Given the description of an element on the screen output the (x, y) to click on. 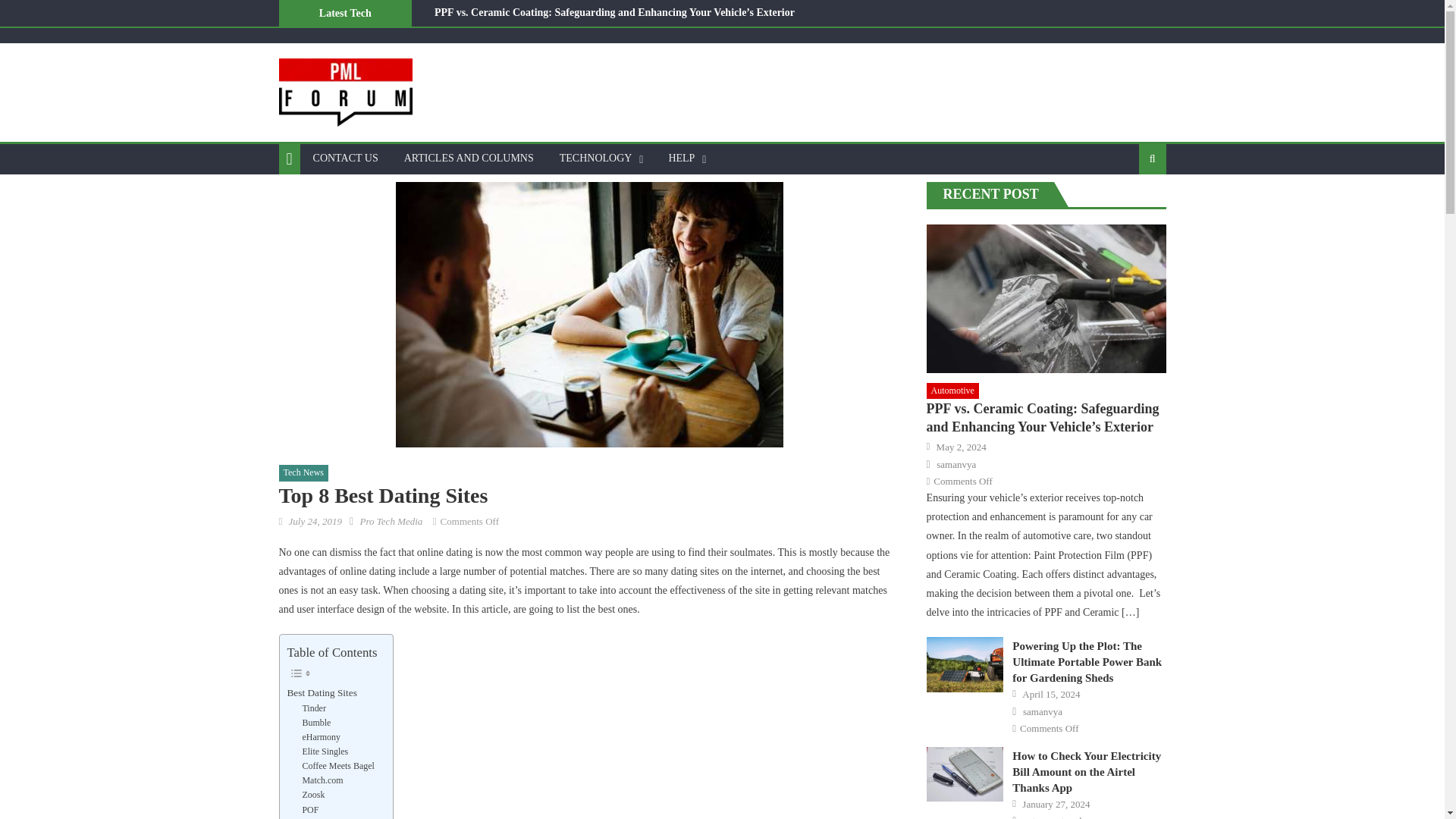
Tinder (312, 708)
Best Dating Sites (321, 692)
Zoosk (312, 794)
Trending (304, 818)
Tinder (312, 708)
CONTACT US (345, 158)
ARTICLES AND COLUMNS (468, 158)
POF (309, 810)
Trending (304, 818)
eHarmony (320, 737)
